Given the description of an element on the screen output the (x, y) to click on. 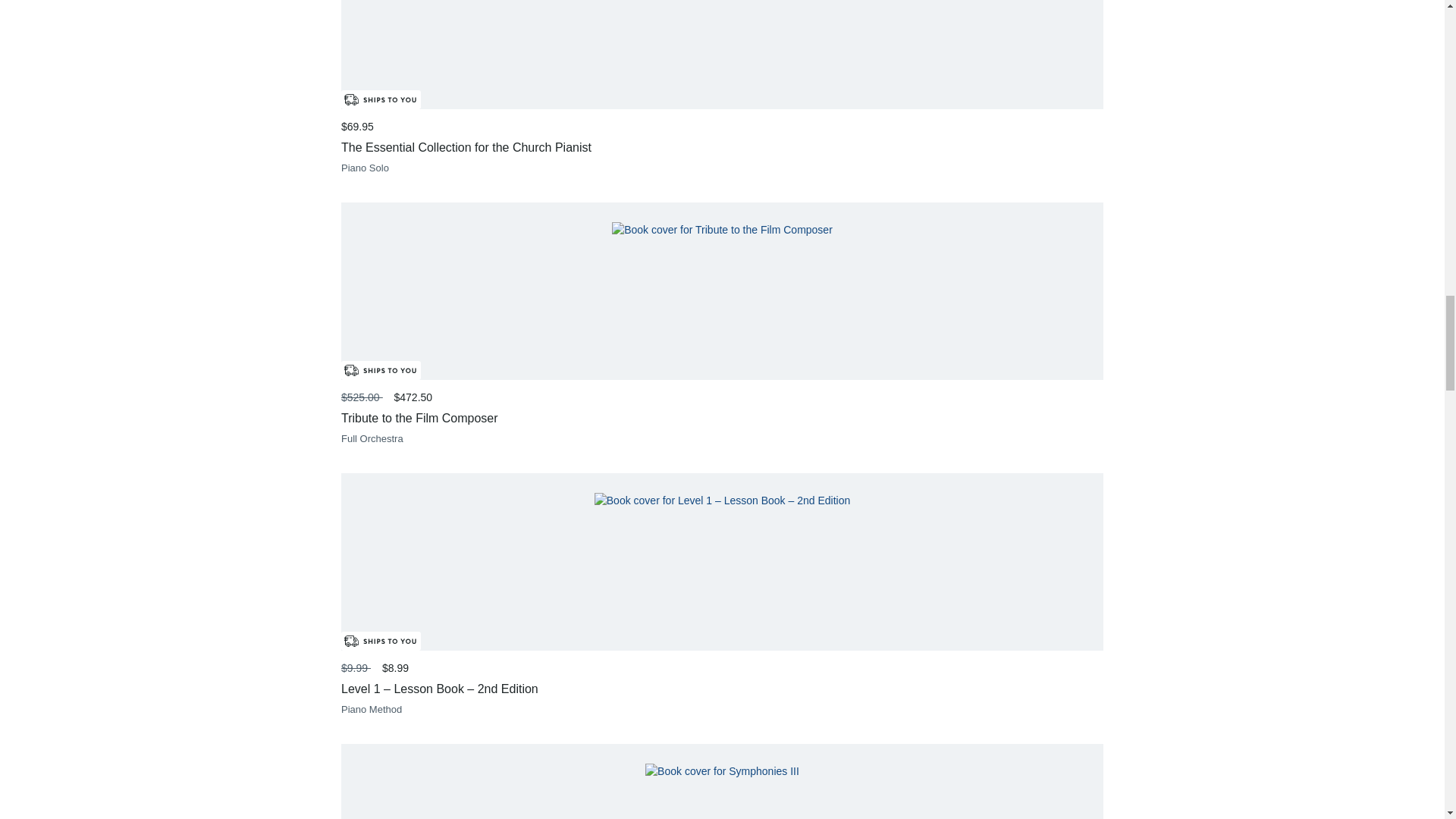
Book cover for Symphonies III (722, 771)
Book cover for Tribute to the Film Composer (721, 229)
